Given the description of an element on the screen output the (x, y) to click on. 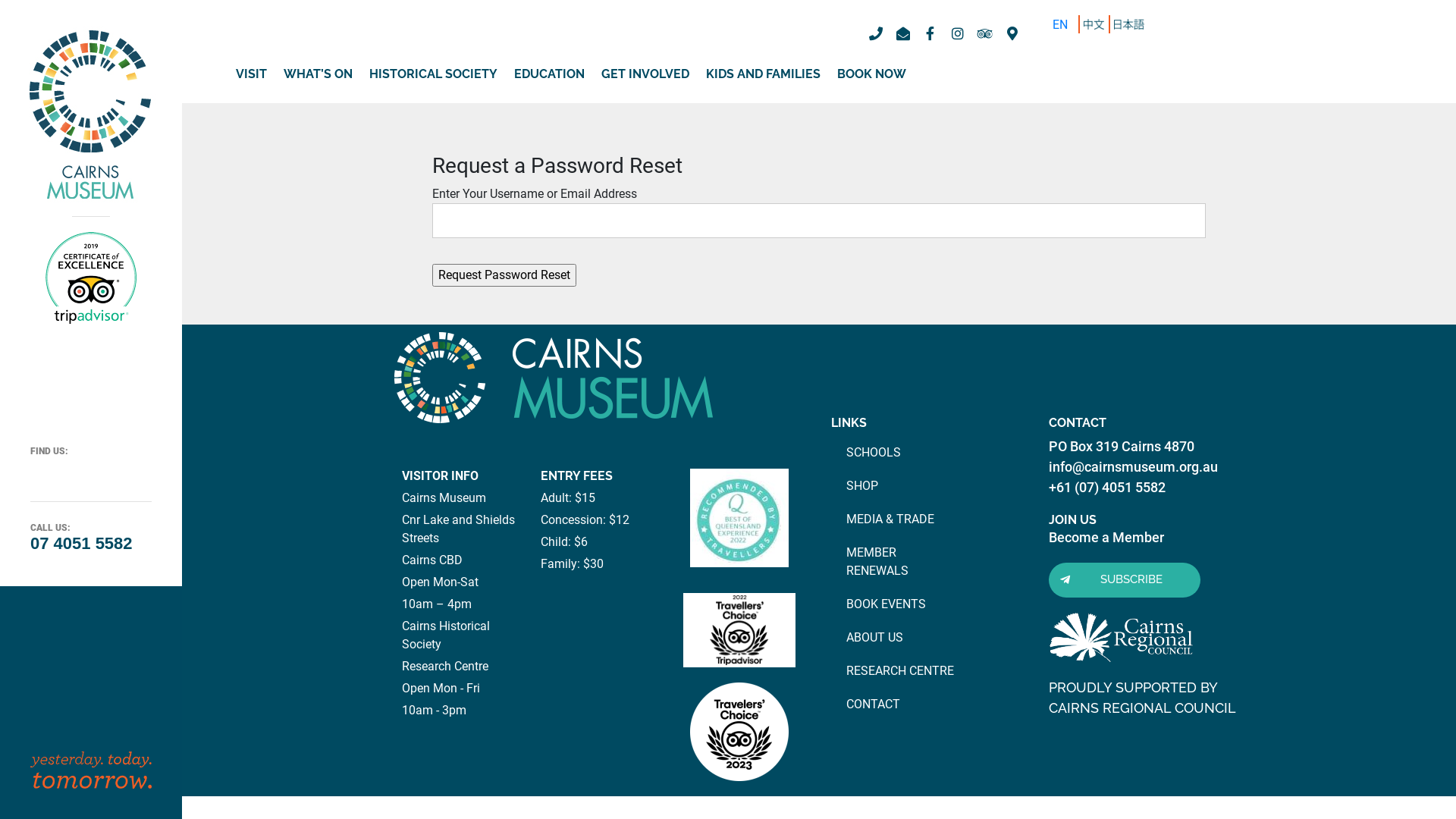
CONTACT Element type: text (873, 703)
SCHOOLS Element type: text (873, 452)
ZH-TW Element type: text (1129, 24)
VISIT Element type: text (251, 74)
GET INVOLVED Element type: text (645, 74)
ZH-CN Element type: text (1094, 24)
image001-badge-only-small.jpg Element type: hover (739, 517)
KIDS AND FAMILIES Element type: text (762, 74)
Find Cairns Museum on Facebook Element type: hover (35, 468)
ABOUT US Element type: text (874, 637)
BOOK EVENTS Element type: text (885, 603)
+61 (07) 4051 5582 Element type: text (1106, 487)
HISTORICAL SOCIETY Element type: text (432, 74)
info@cairnsmuseum.org.au Element type: text (1132, 466)
07 4051 5582 Element type: text (81, 542)
Tchoice-2023.png Element type: hover (739, 731)
RESEARCH CENTRE Element type: text (899, 670)
EDUCATION Element type: text (549, 74)
Review Cairns Museum on TripAdvisor Element type: hover (68, 468)
MEMBER RENEWALS Element type: text (877, 561)
SUBSCRIBE Element type: text (1124, 579)
MEDIA & TRADE Element type: text (890, 518)
Request Password Reset Element type: text (504, 274)
EN Element type: text (1059, 24)
SHOP Element type: text (862, 485)
BOOK NOW Element type: text (871, 74)
